Given the description of an element on the screen output the (x, y) to click on. 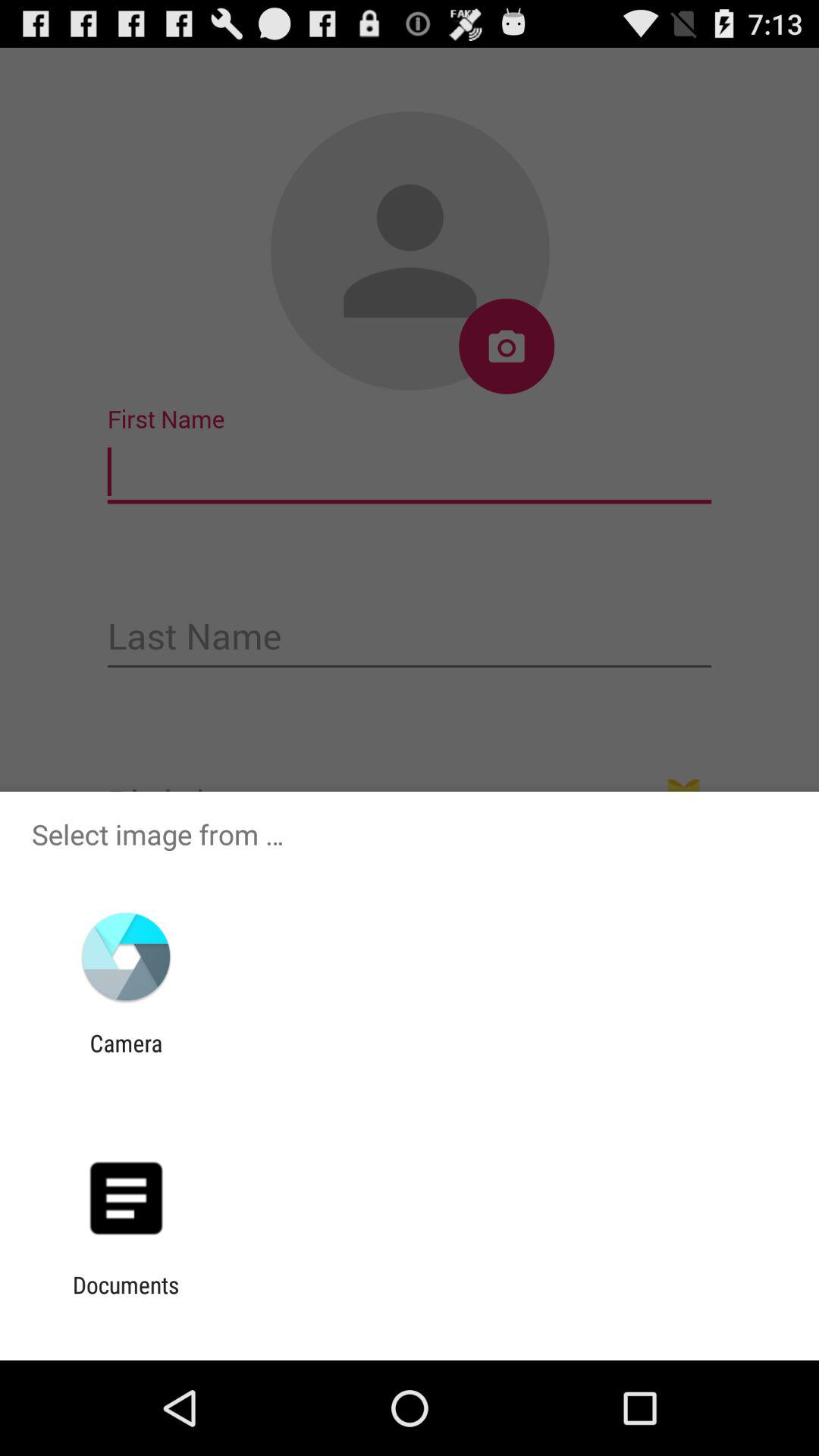
open the documents (125, 1298)
